Given the description of an element on the screen output the (x, y) to click on. 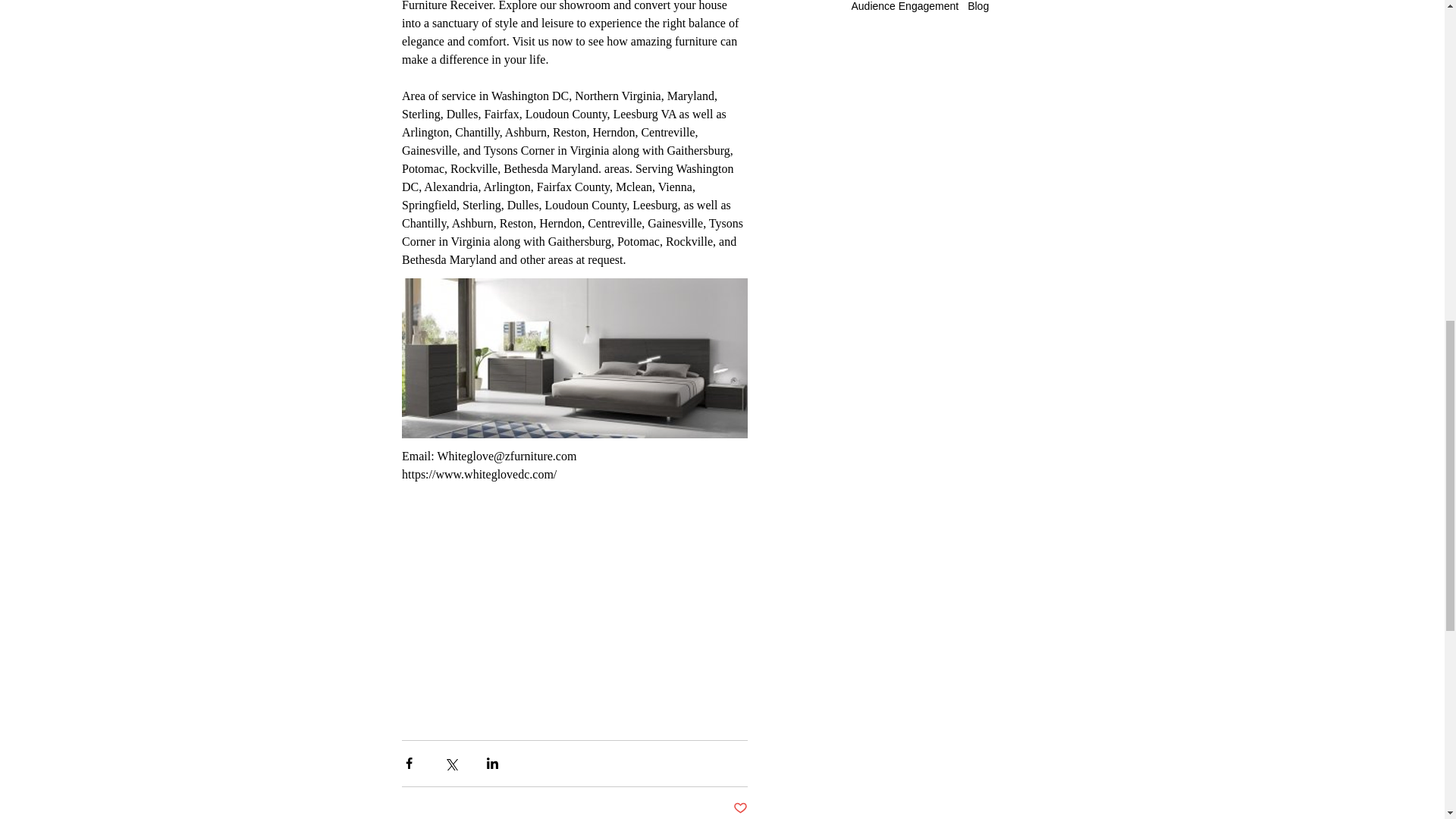
Post not marked as liked (739, 808)
Blog (978, 6)
Audience Engagement (904, 6)
